Given the description of an element on the screen output the (x, y) to click on. 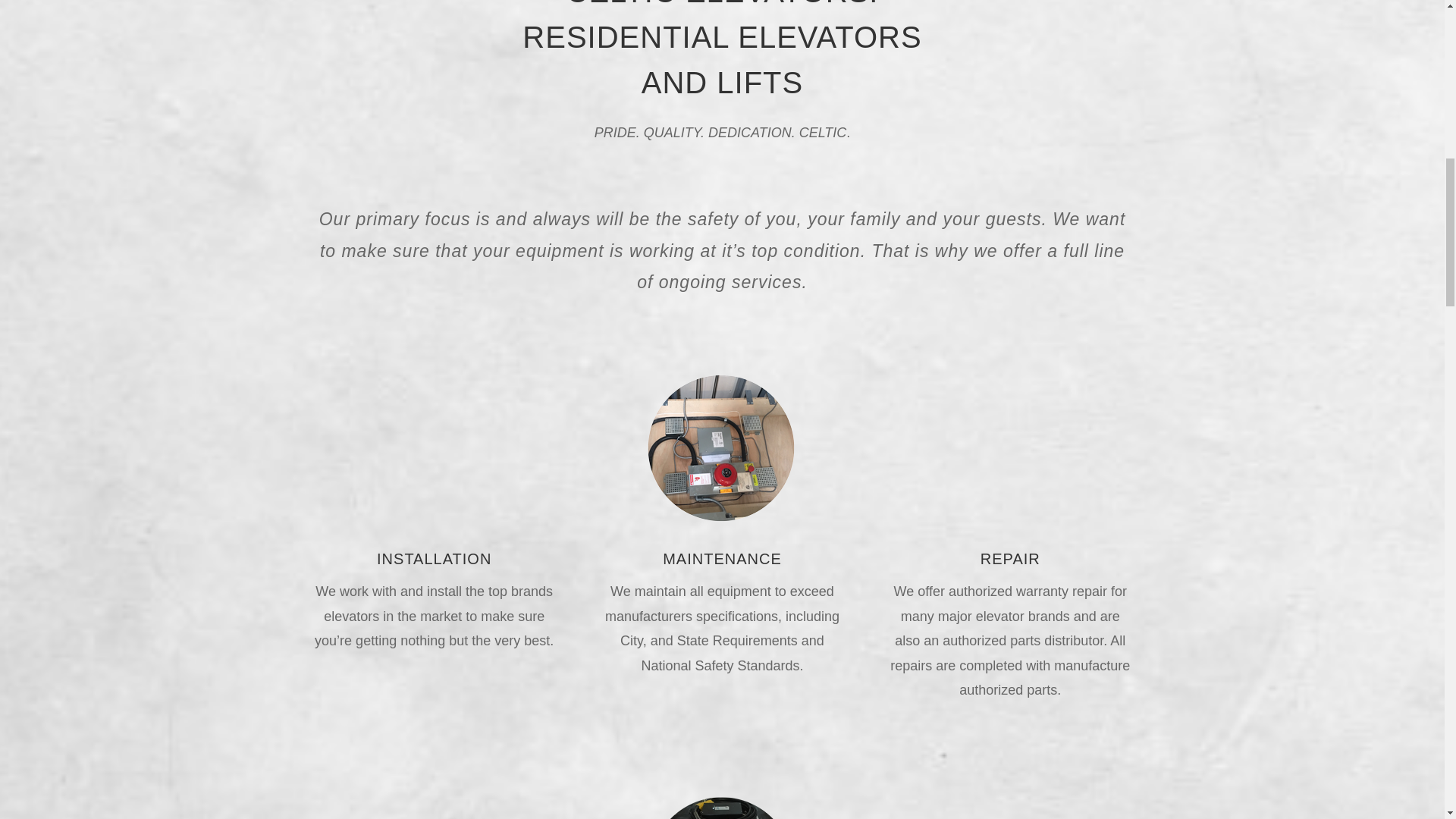
Home 2 (721, 447)
Home 5 (721, 806)
